Given the description of an element on the screen output the (x, y) to click on. 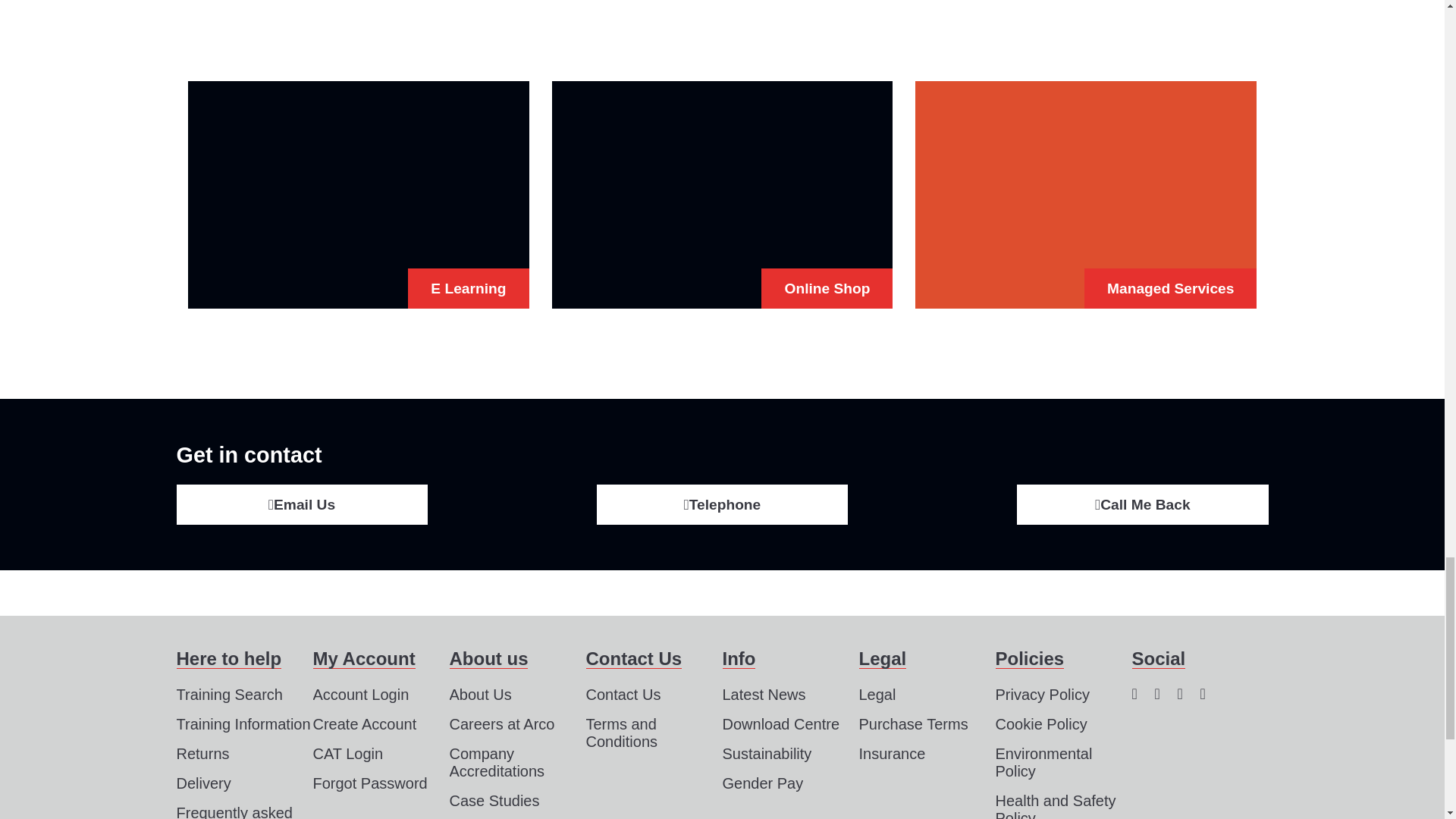
Returns (202, 754)
Training Search (229, 695)
Delivery (203, 783)
Training Information (243, 724)
